Given the description of an element on the screen output the (x, y) to click on. 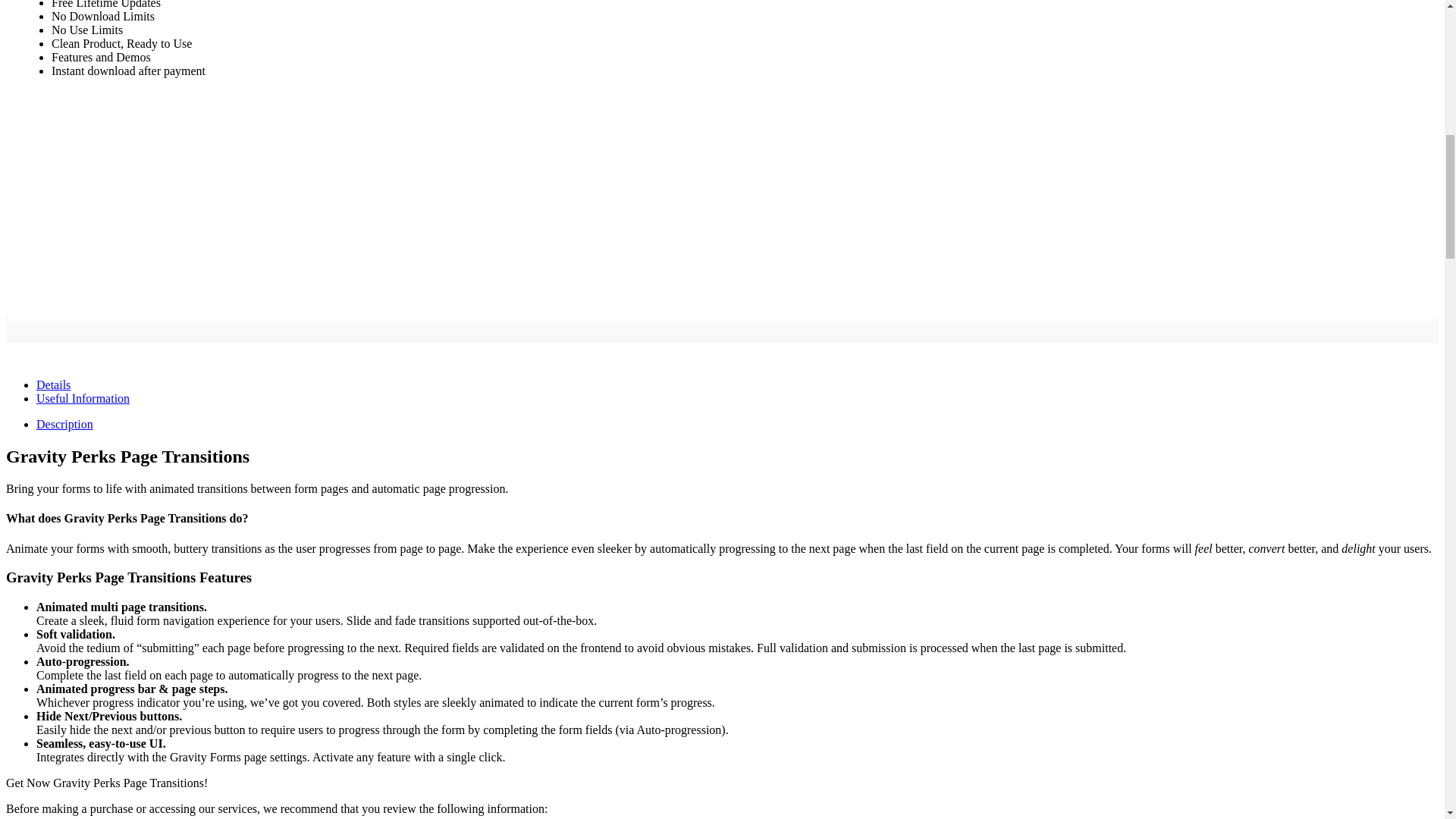
Useful Information (82, 398)
Description (64, 423)
Details (52, 384)
